Given the description of an element on the screen output the (x, y) to click on. 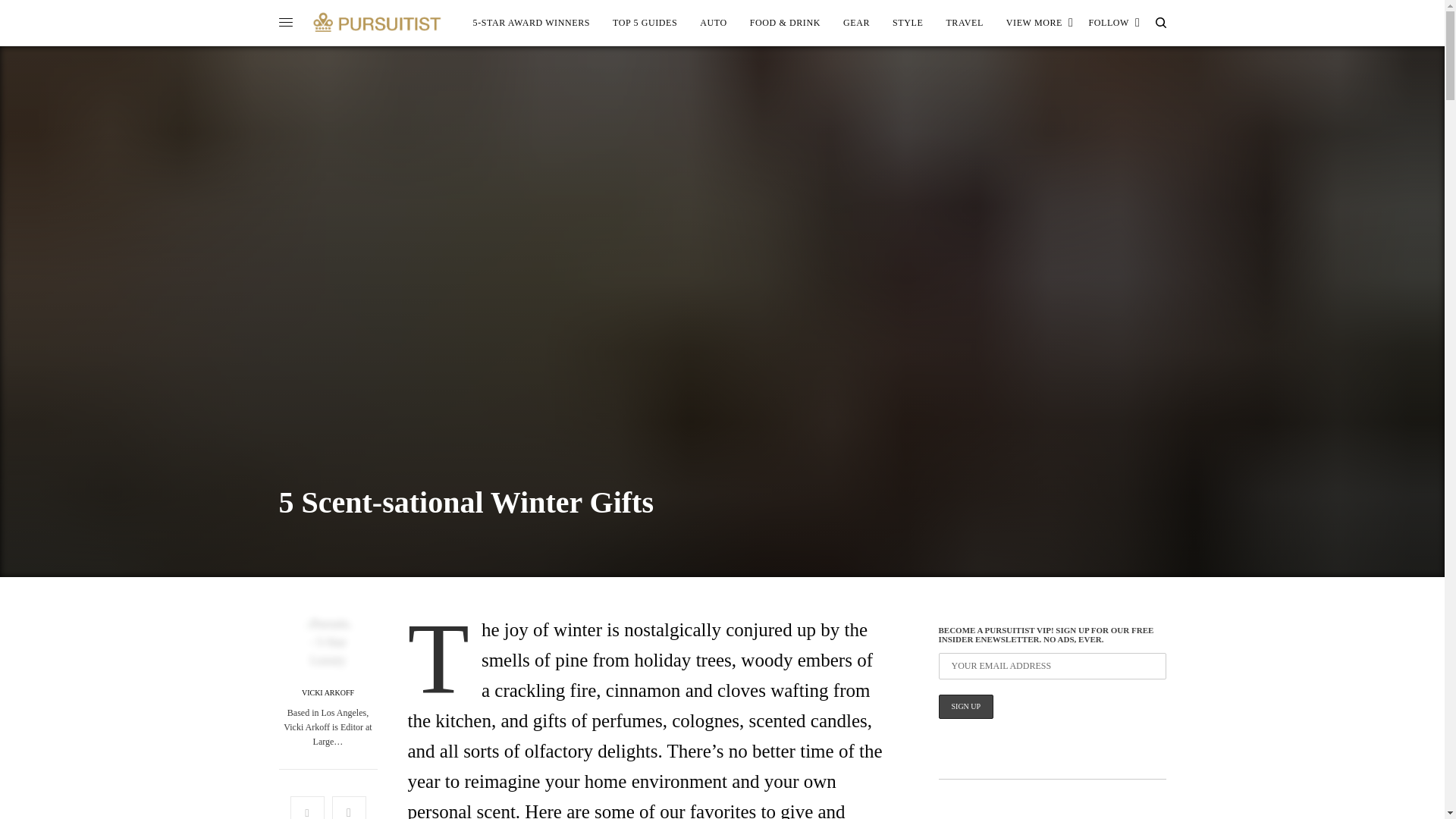
VICKI ARKOFF (328, 692)
5-STAR AWARD WINNERS (532, 22)
FOLLOW (1113, 22)
TOP 5 GUIDES (644, 22)
5-Star Pursuits (532, 22)
VIEW MORE (1040, 22)
Sign up (966, 706)
Pursuitist (376, 22)
